Given the description of an element on the screen output the (x, y) to click on. 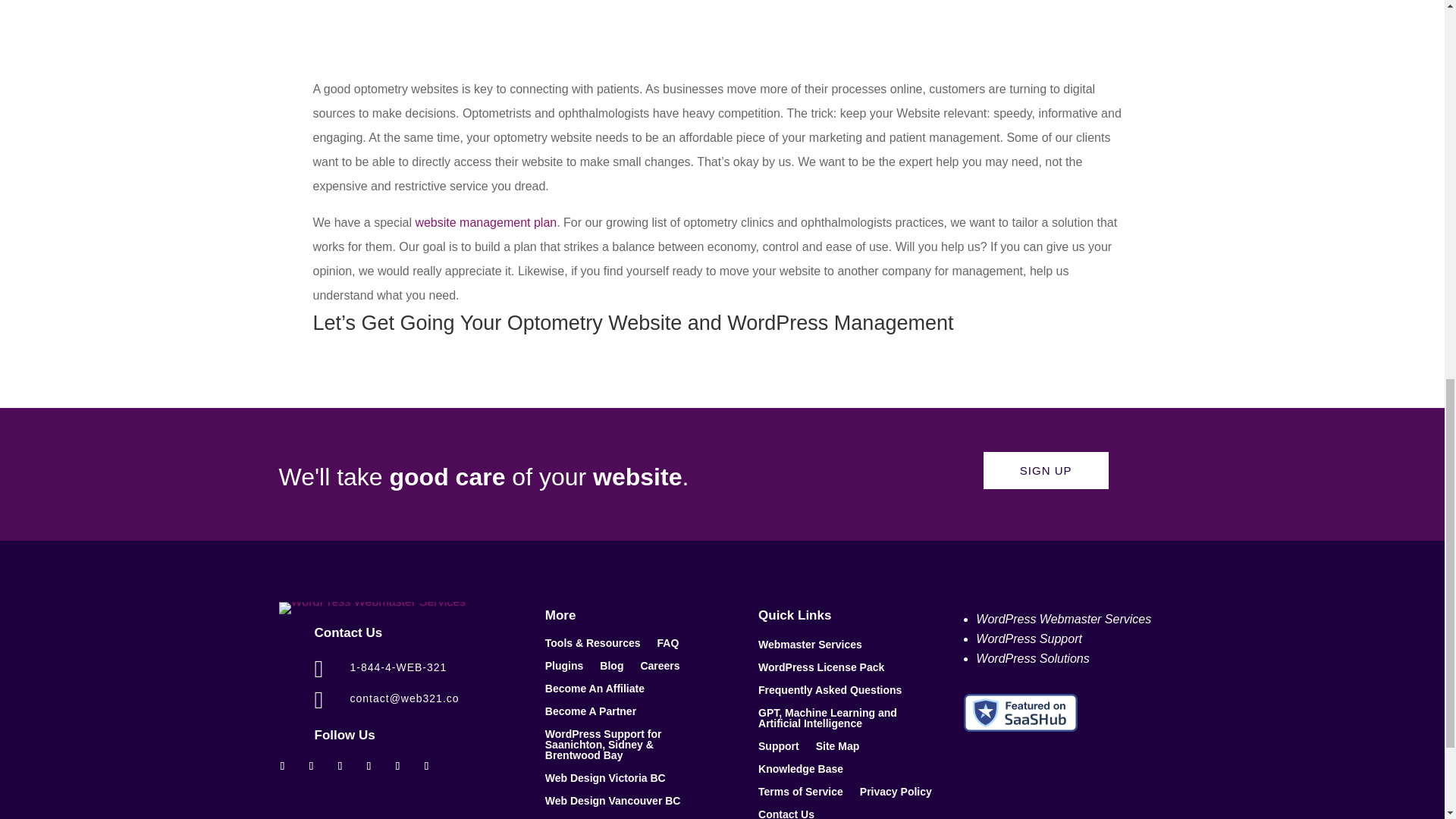
website management plan (485, 222)
FAQ (668, 646)
WordPress Webmaster Services (372, 607)
Follow on Facebook (282, 765)
Follow on Instagram (340, 765)
SIGN UP (1046, 470)
Follow on X (311, 765)
Follow on LinkedIn (369, 765)
1-844-4-WEB-321 (398, 666)
